Given the description of an element on the screen output the (x, y) to click on. 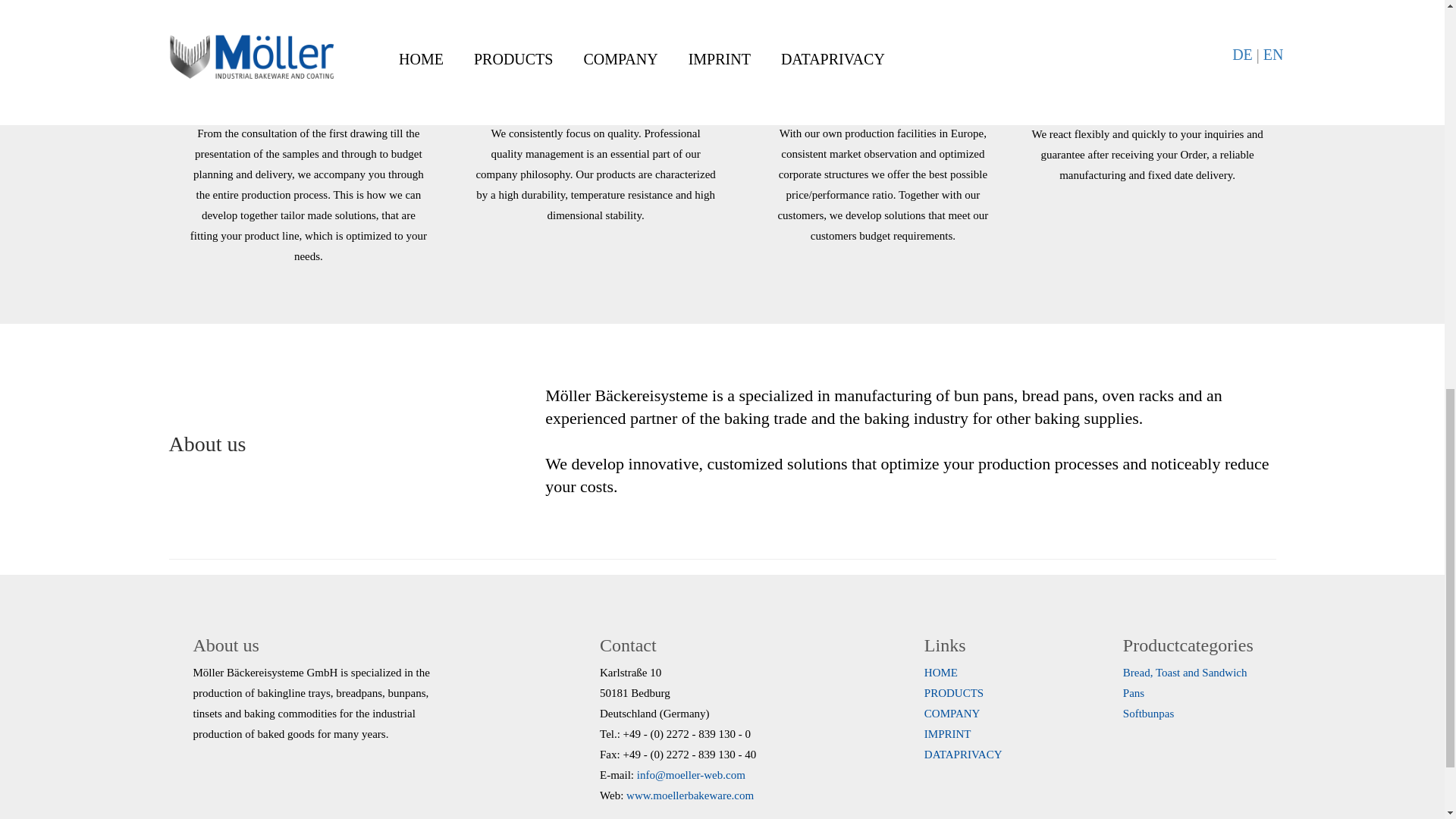
PRODUCTS (954, 693)
www.moellerbakeware.com (690, 795)
Softbunpas (1148, 713)
Previous (140, 47)
COMPANY (951, 713)
Next (1303, 37)
Bread, Toast and Sandwich Pans (1184, 682)
HOME (941, 672)
IMPRINT (947, 734)
Bread, Toast and Sandwich Pans (1184, 682)
DATAPRIVACY (963, 754)
Softbun Pans (1148, 713)
